Given the description of an element on the screen output the (x, y) to click on. 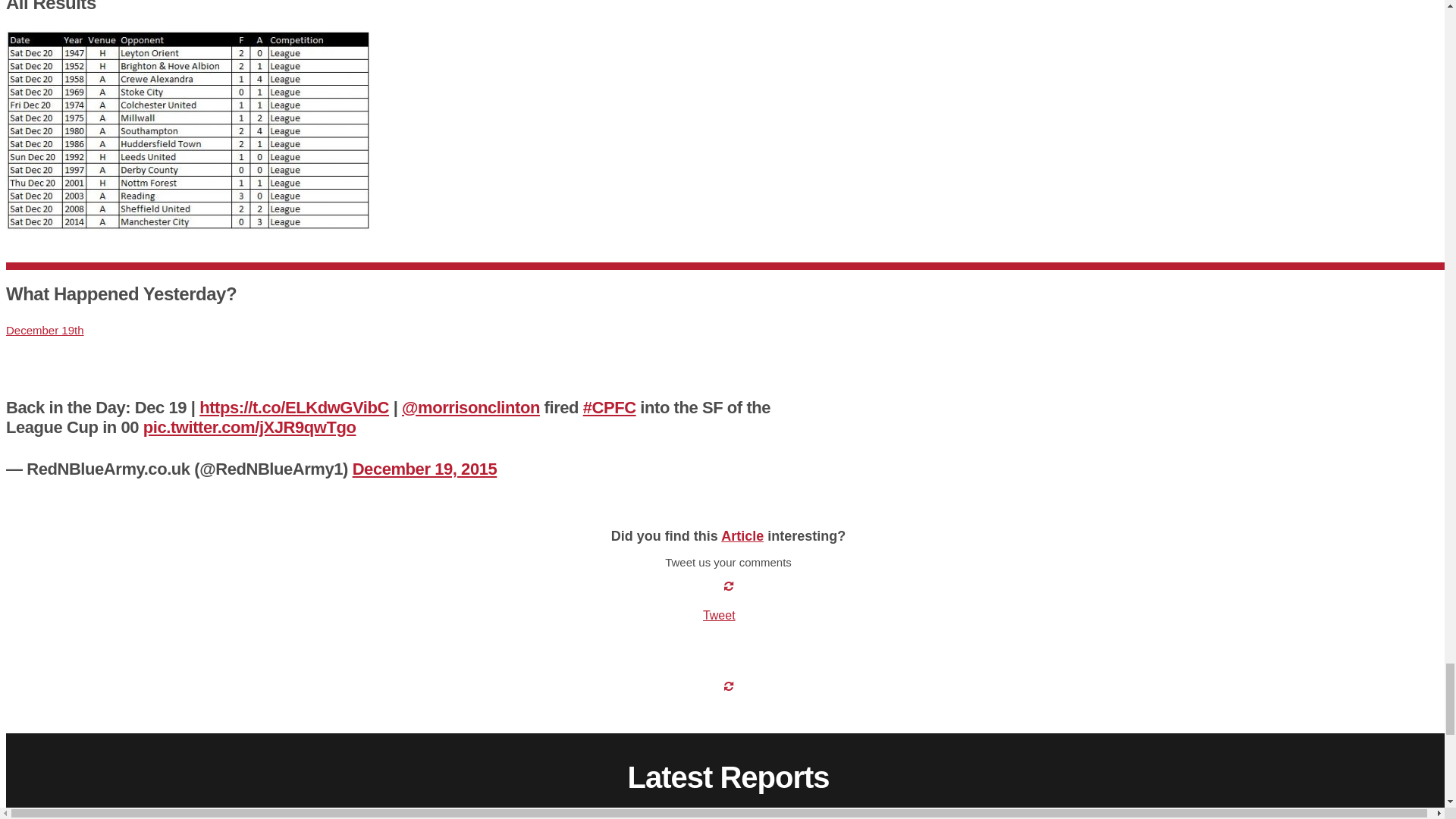
December 19, 2015 (424, 468)
Tweet (719, 615)
December 19th (44, 329)
Article (741, 535)
